Given the description of an element on the screen output the (x, y) to click on. 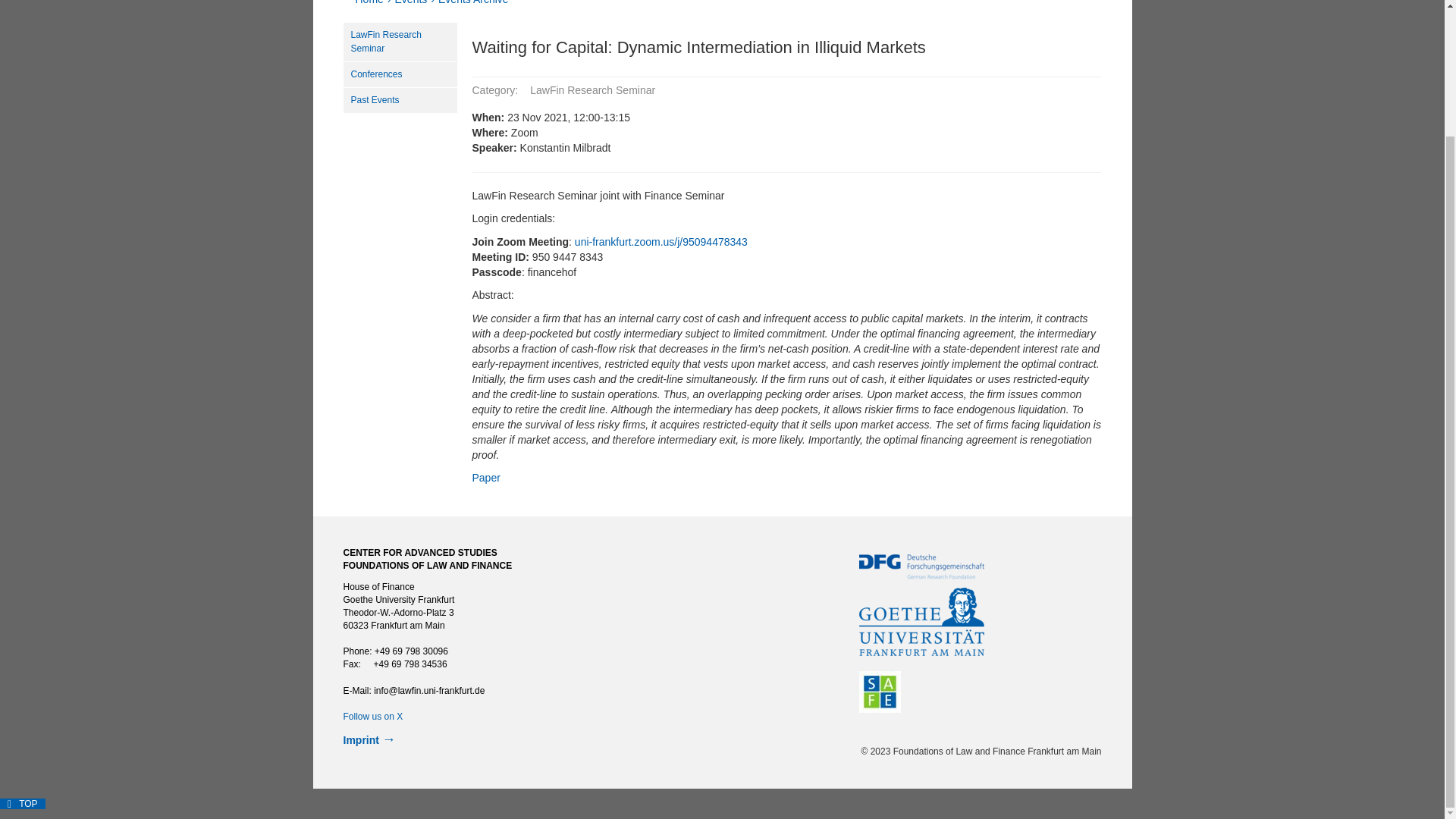
Past Events (399, 100)
Events Archive (473, 2)
Home (368, 2)
Follow us on X (372, 716)
LawFin Research Seminar (399, 41)
Conferences (399, 74)
Past Events (399, 100)
Opens internal link in current window (372, 716)
Opens internal link in current window (485, 477)
LawFin Research Seminar (399, 41)
